Given the description of an element on the screen output the (x, y) to click on. 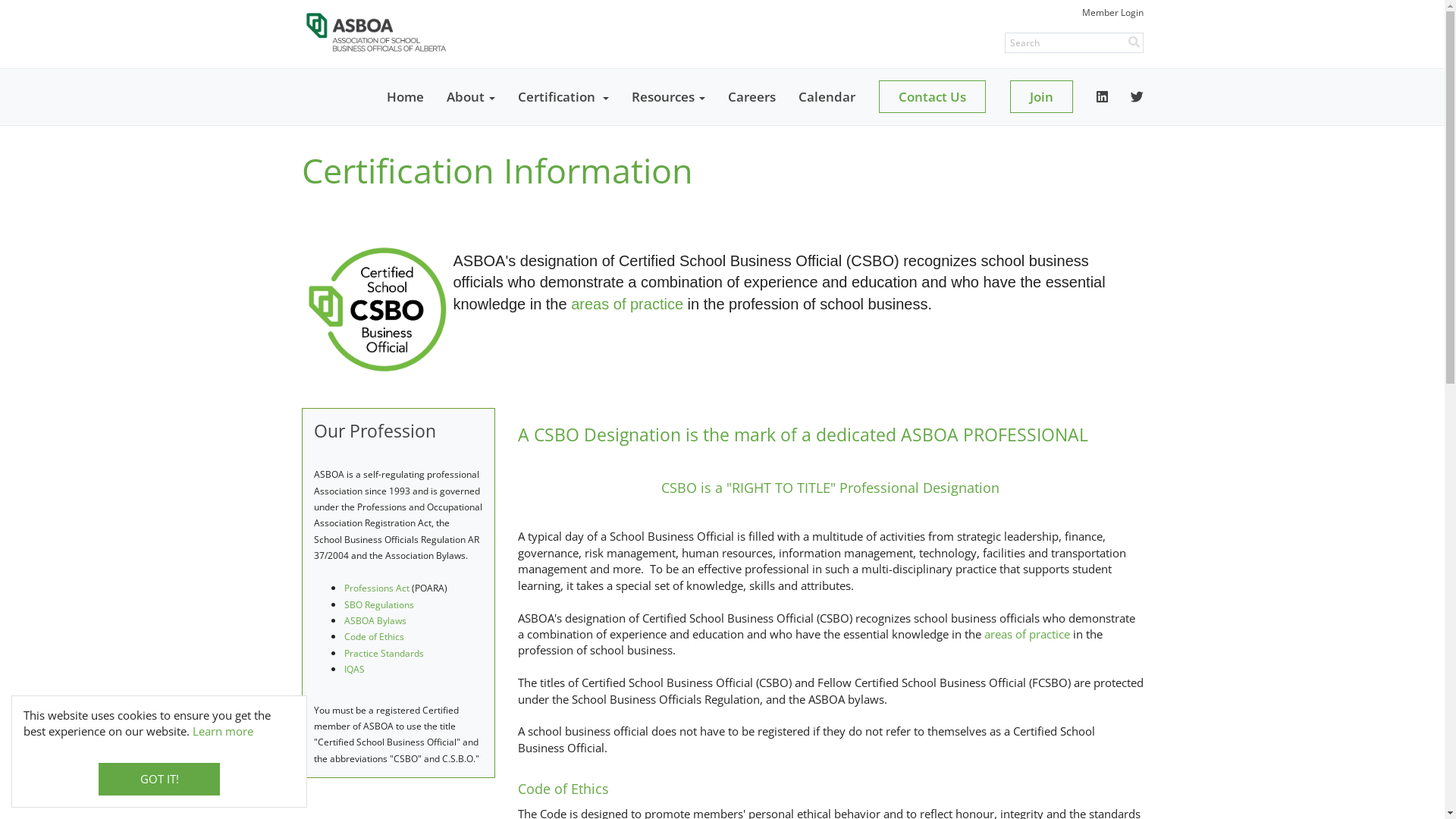
Contact Us Element type: text (931, 96)
Practice Standards Element type: text (383, 652)
areas of practice Element type: text (629, 303)
SBO Regulations Element type: text (379, 604)
Resources Element type: text (668, 96)
Home Element type: text (404, 96)
areas of practice Element type: text (1028, 633)
ASBOA Bylaws Element type: text (375, 620)
IQAS Element type: text (354, 667)
Member Login Element type: text (1111, 12)
Calendar Element type: text (826, 96)
Careers Element type: text (750, 96)
GOT IT! Element type: text (158, 778)
Learn more Element type: text (222, 730)
Join Element type: text (1041, 96)
Professions Act  Element type: text (377, 587)
About Element type: text (470, 96)
Code of Ethics Element type: text (374, 636)
Certification Element type: text (563, 96)
